Given the description of an element on the screen output the (x, y) to click on. 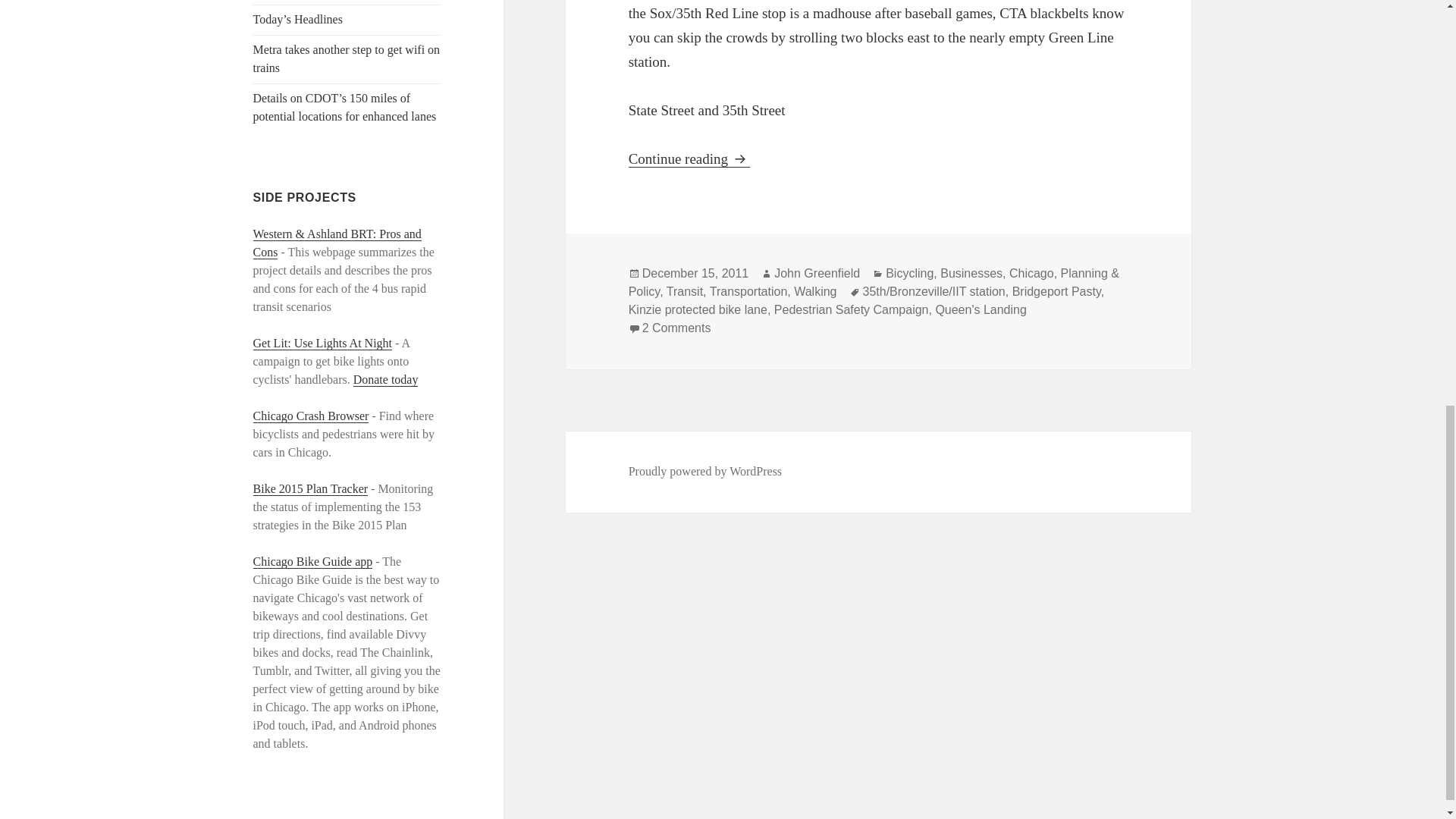
Donate today (386, 379)
Metra takes another step to get wifi on trains (347, 58)
Chicago Bike Guide app (312, 561)
Pedestrian Safety Campaign (851, 309)
Chicago Crash Browser (311, 416)
Get Lit: Use Lights At Night (323, 343)
Bike 2015 Plan Tracker (310, 489)
Queen's Landing (980, 309)
Transportation (748, 291)
John Greenfield (817, 273)
Transit (684, 291)
Chicago (1031, 273)
Bicycling (909, 273)
Kinzie protected bike lane (697, 309)
Walking (814, 291)
